Given the description of an element on the screen output the (x, y) to click on. 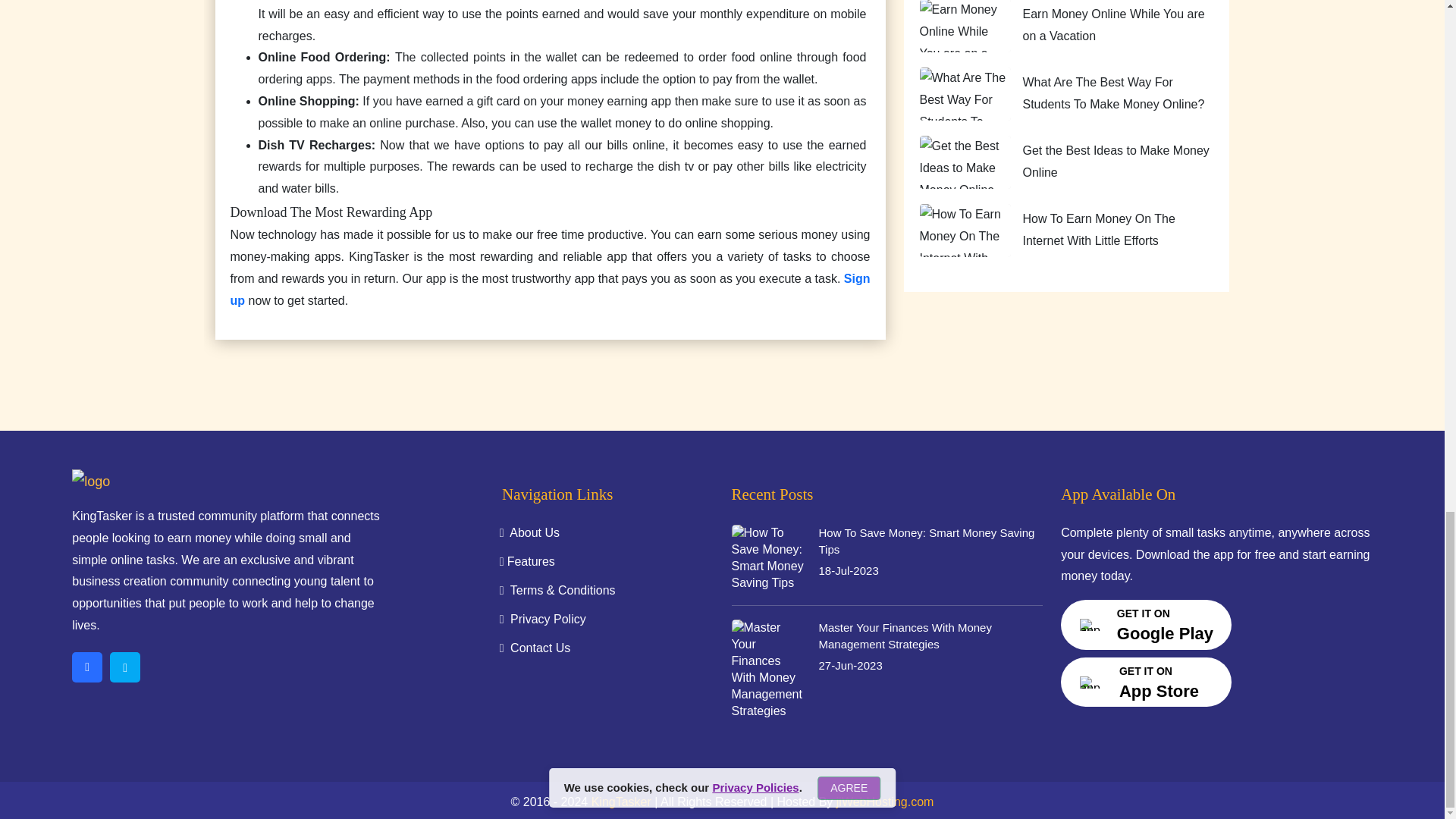
Sign up (550, 289)
